Given the description of an element on the screen output the (x, y) to click on. 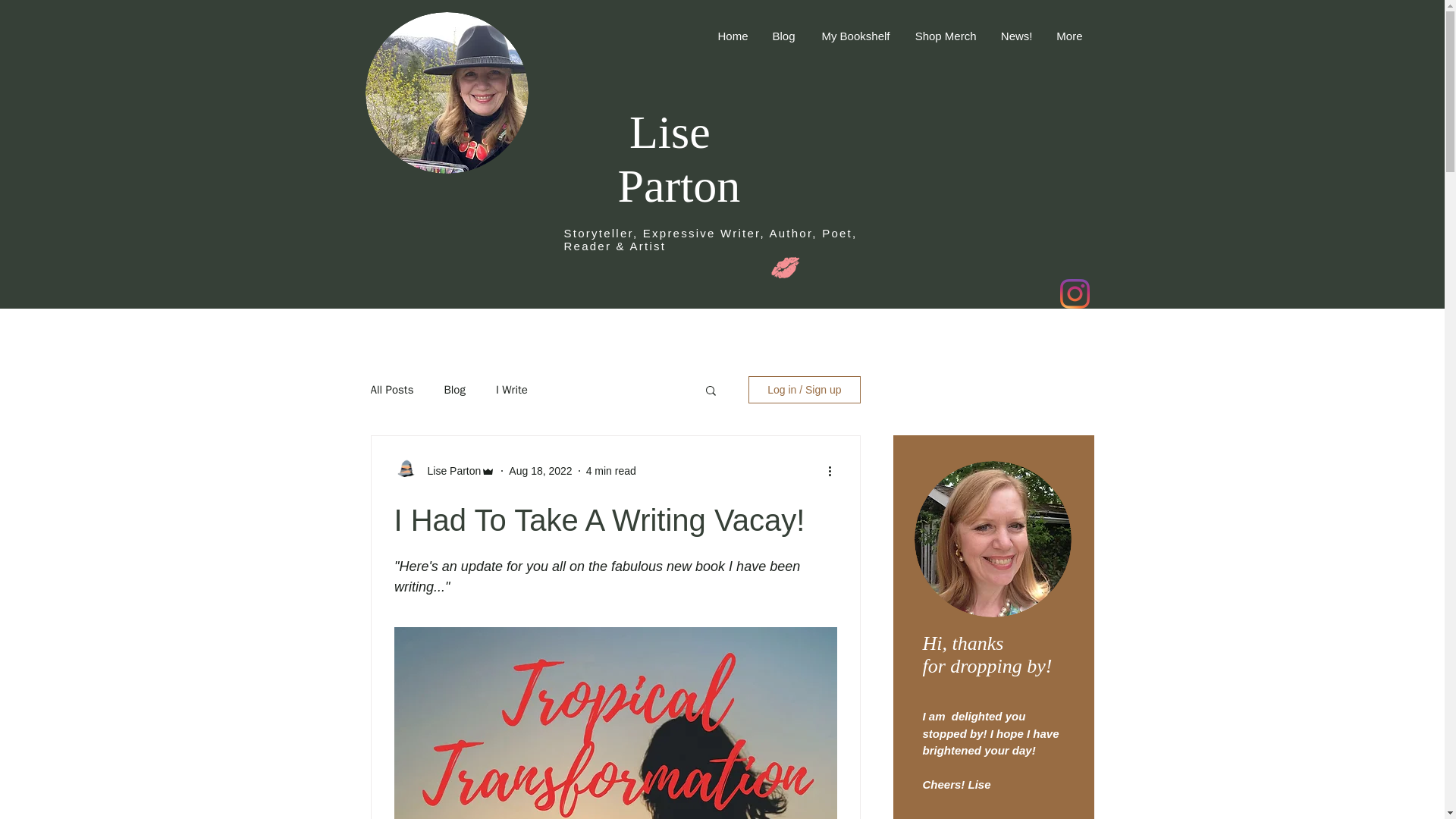
4 min read (611, 469)
Come in and discover... (422, 275)
 Lise Parton (678, 158)
Welcome! (432, 201)
My Bookshelf (853, 36)
Lise Parton (450, 470)
Blog (783, 36)
Home (730, 36)
Aug 18, 2022 (540, 469)
Blog (454, 389)
News! (1015, 36)
Cheers! Lise  (956, 784)
I Write (511, 389)
All Posts (391, 389)
